Given the description of an element on the screen output the (x, y) to click on. 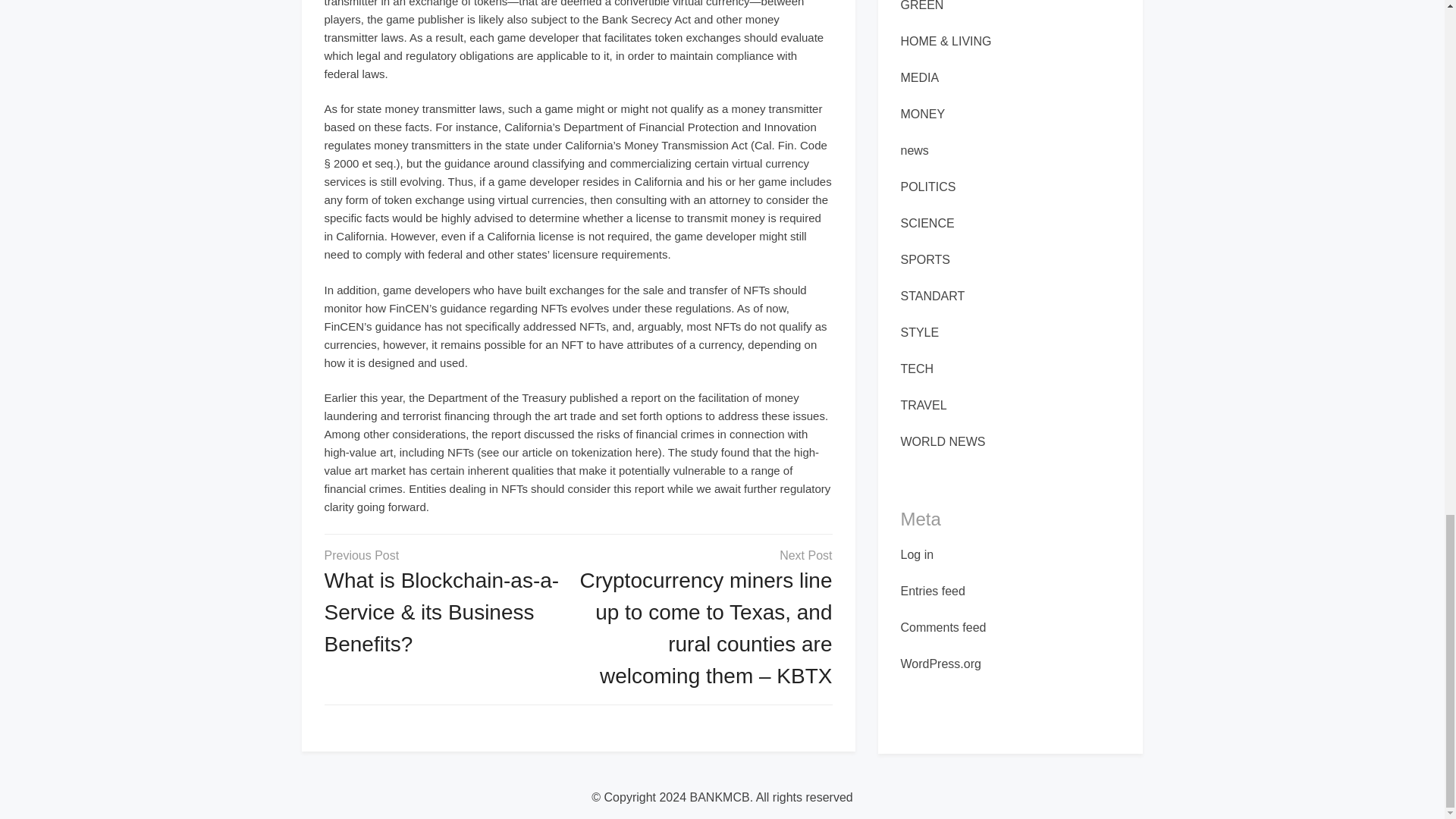
SCIENCE (928, 223)
MONEY (922, 113)
POLITICS (928, 186)
SPORTS (925, 259)
news (914, 150)
GREEN (922, 5)
MEDIA (920, 77)
